Given the description of an element on the screen output the (x, y) to click on. 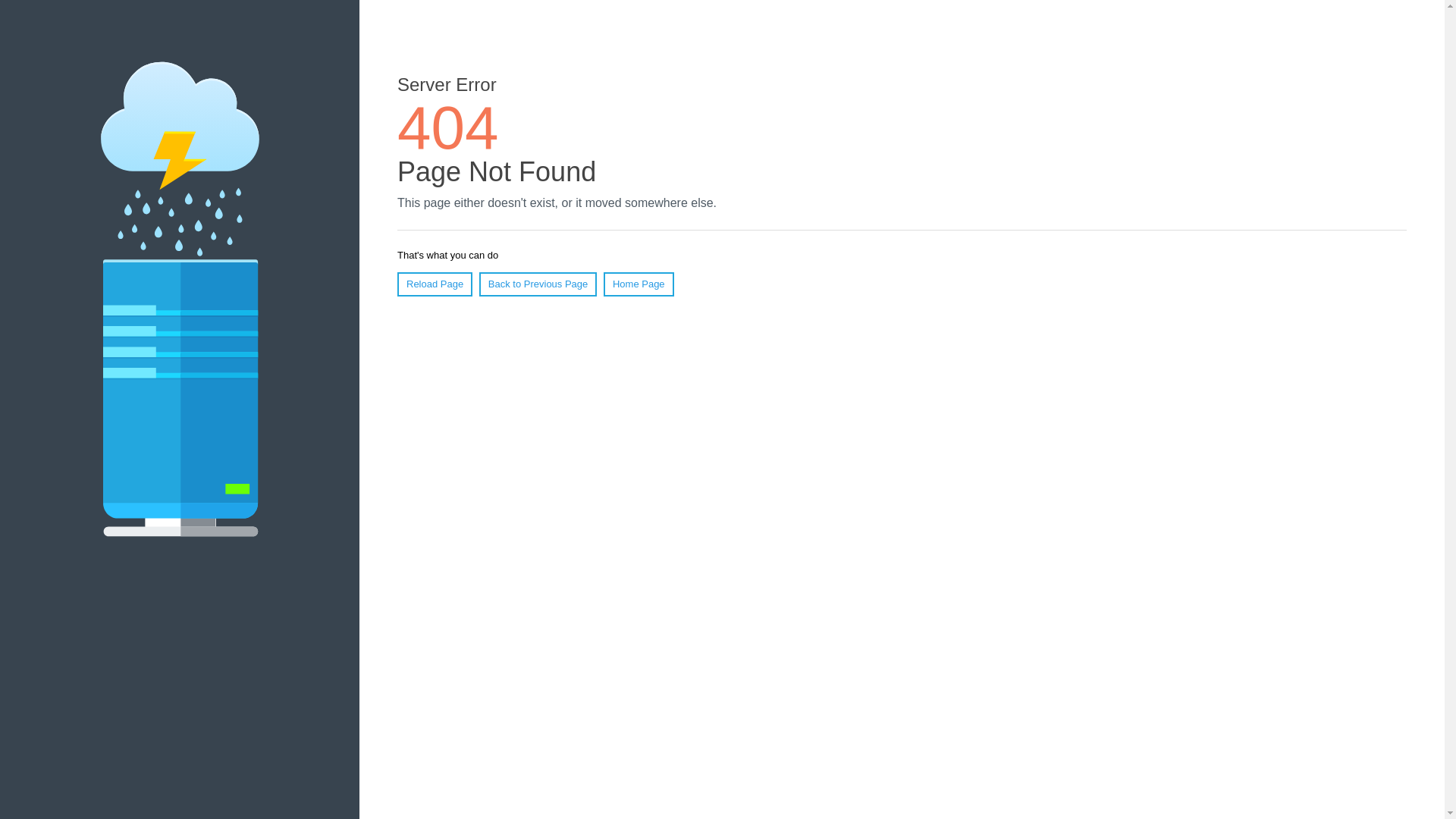
Back to Previous Page Element type: text (538, 284)
Reload Page Element type: text (434, 284)
Home Page Element type: text (638, 284)
